Given the description of an element on the screen output the (x, y) to click on. 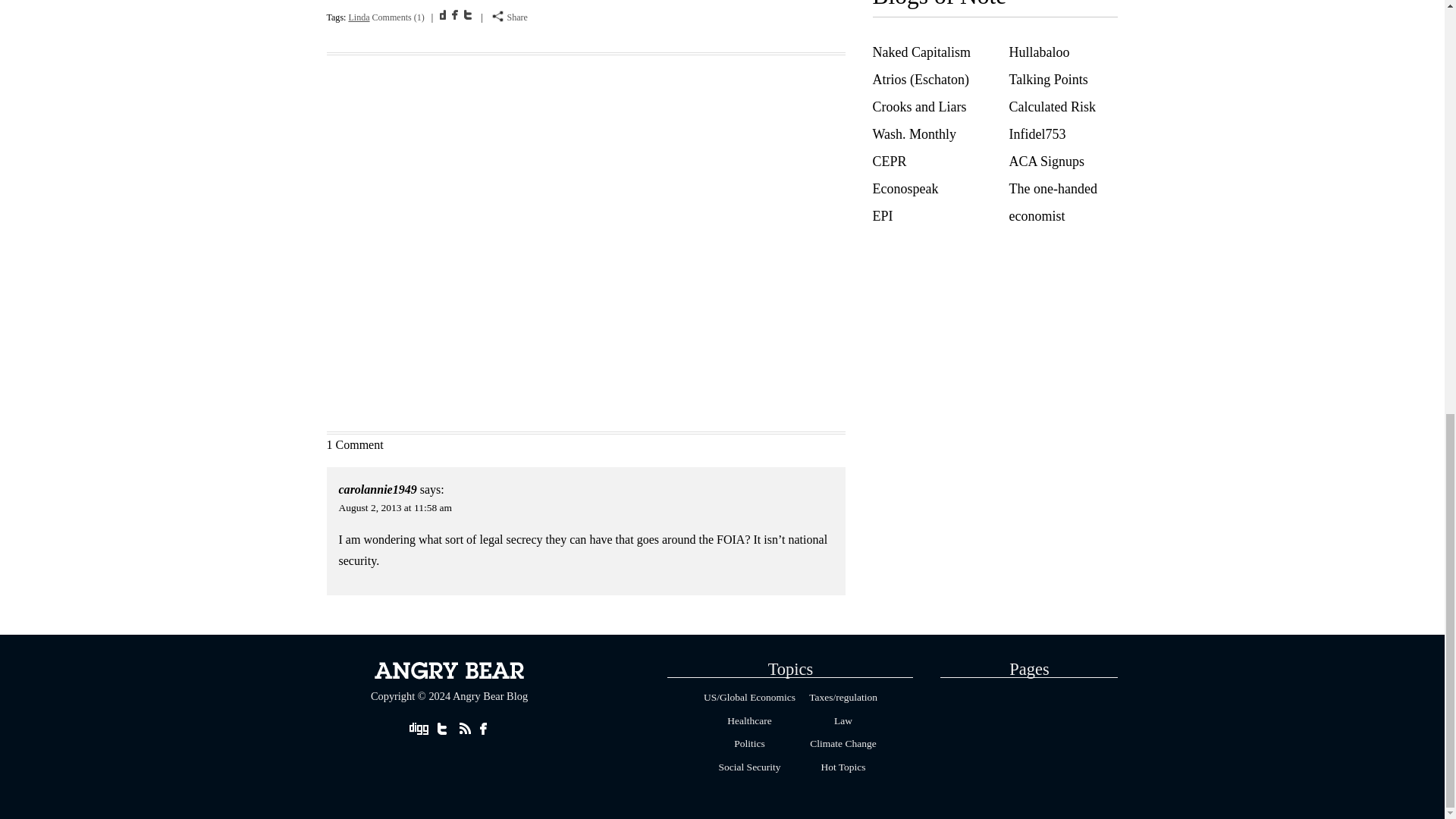
Twitter (469, 14)
Facebook (456, 14)
August 2, 2013 at 11:58 am (395, 507)
Linda (358, 17)
Digg (444, 14)
